Given the description of an element on the screen output the (x, y) to click on. 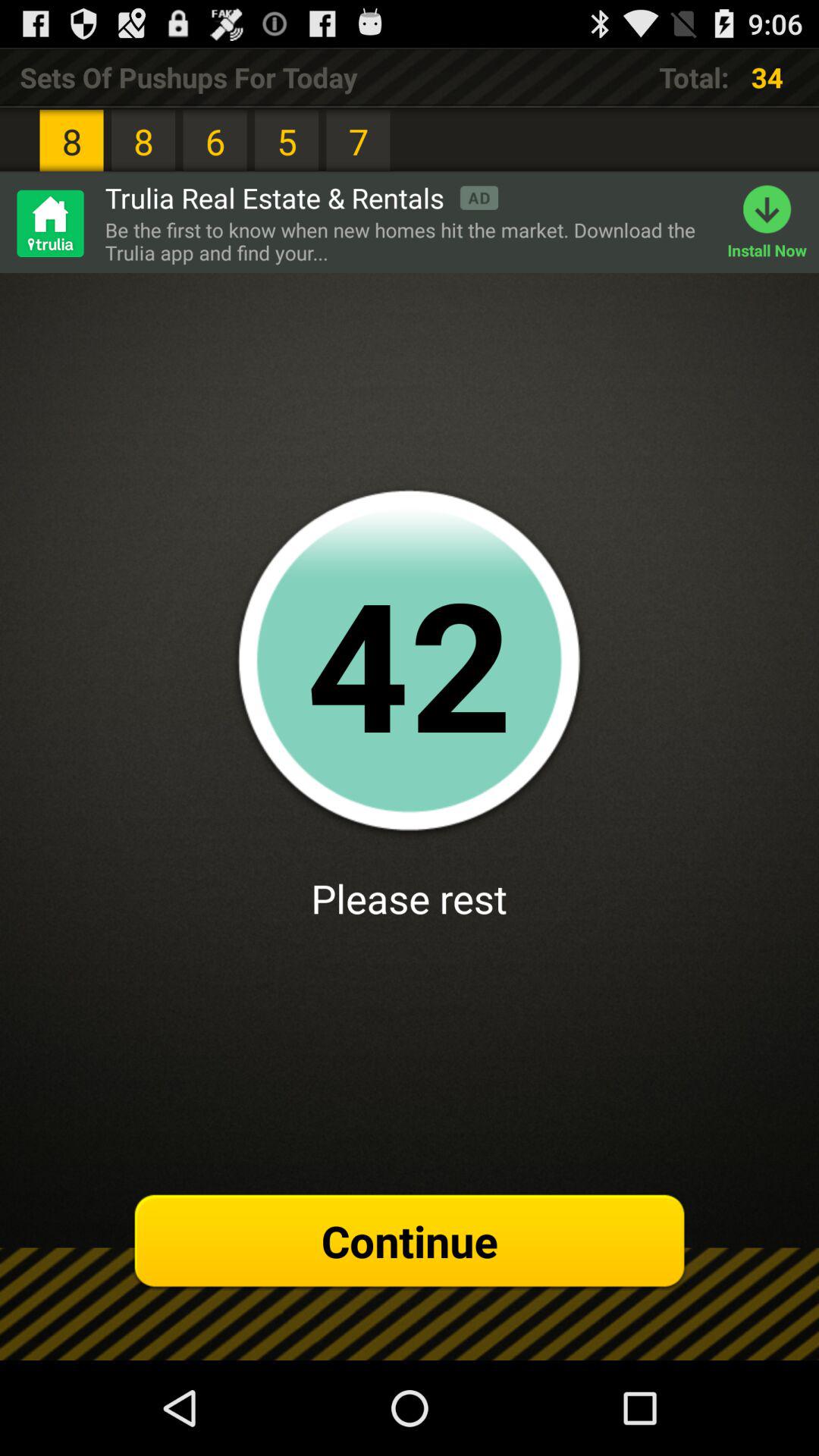
go to home page (49, 222)
